Given the description of an element on the screen output the (x, y) to click on. 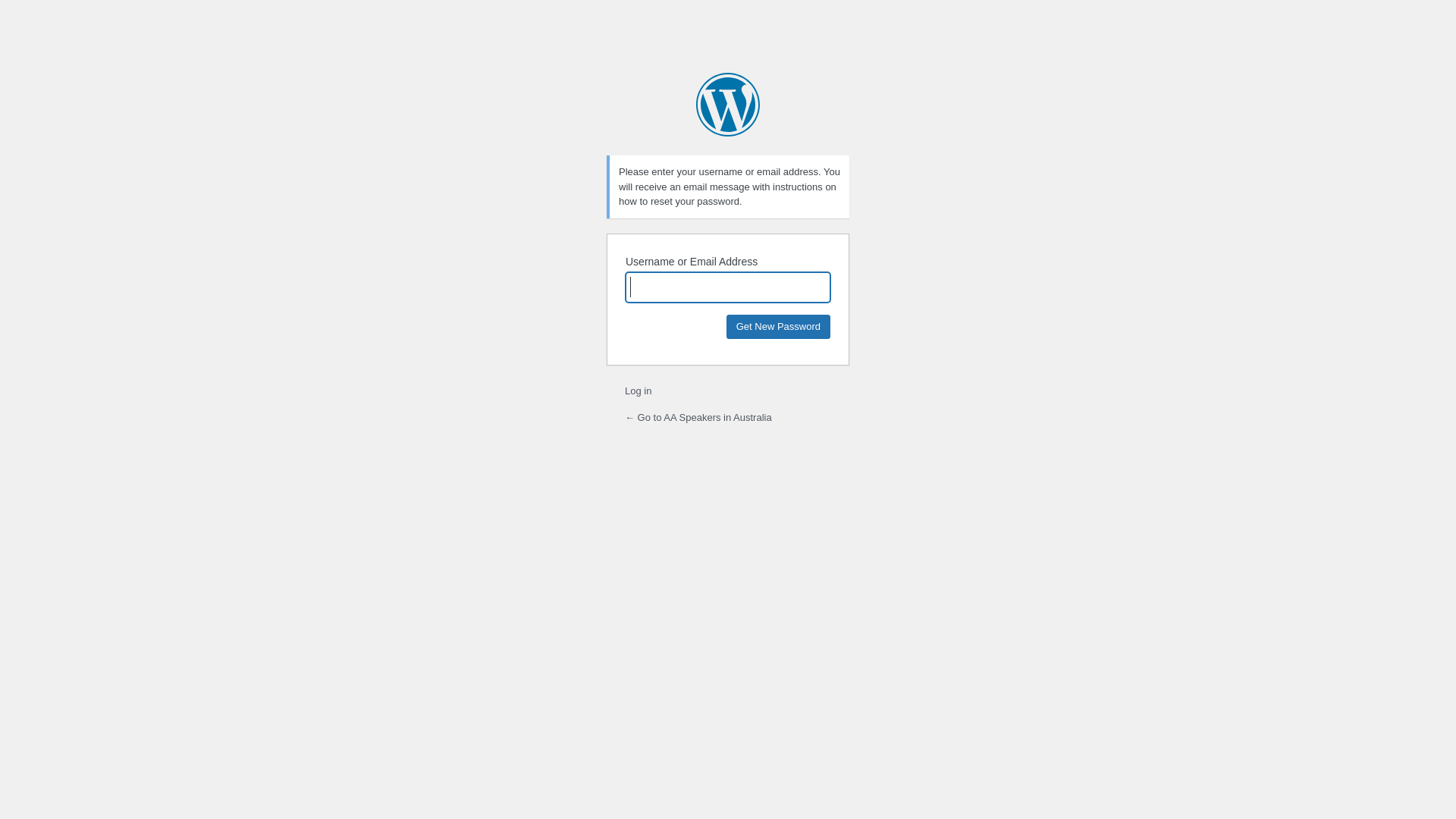
Get New Password Element type: text (778, 325)
Powered by WordPress Element type: text (727, 104)
Log in Element type: text (637, 390)
